Given the description of an element on the screen output the (x, y) to click on. 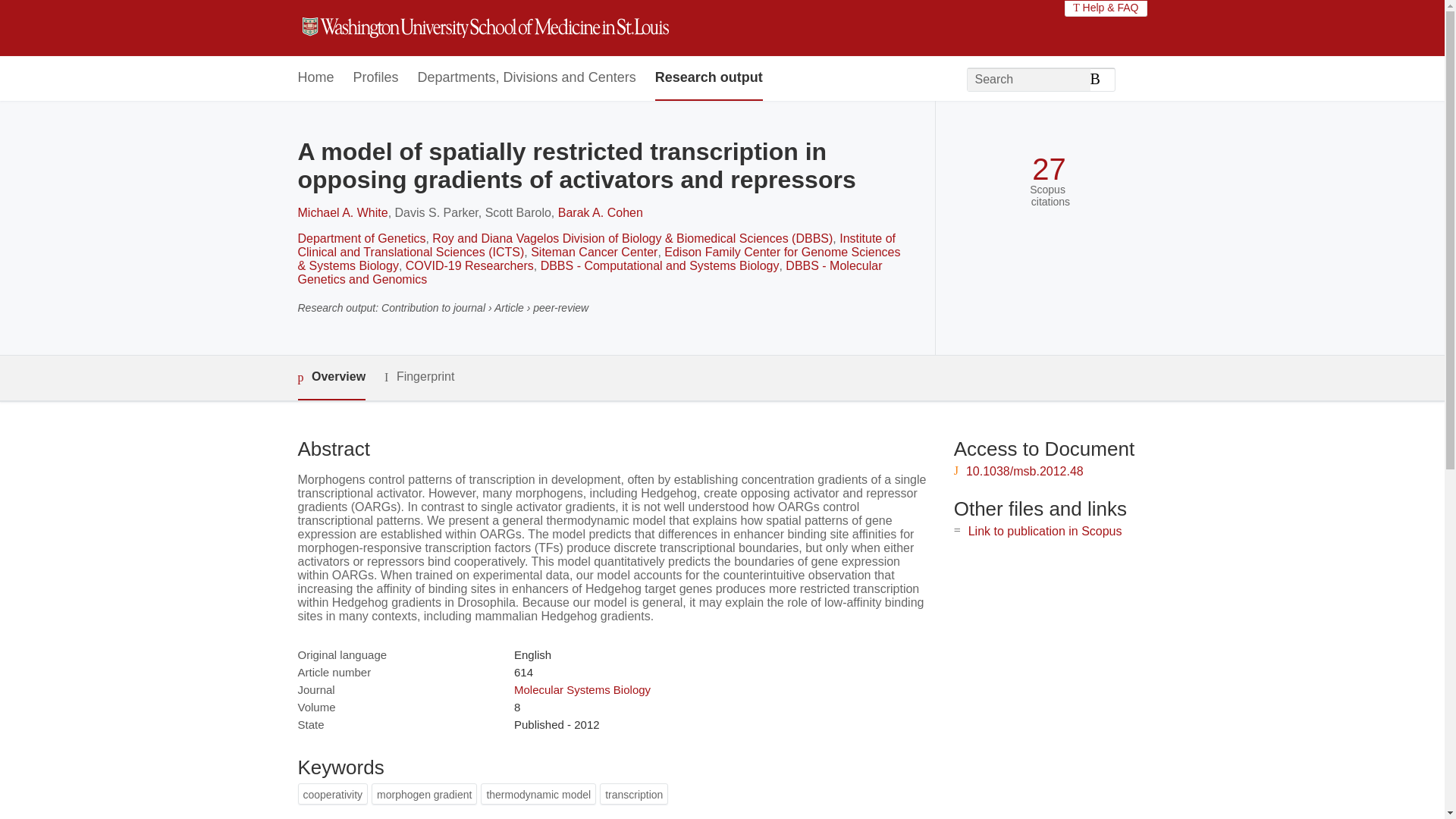
Link to publication in Scopus (1045, 530)
DBBS - Molecular Genetics and Genomics (589, 272)
Barak A. Cohen (600, 212)
Department of Genetics (361, 237)
27 (1048, 169)
COVID-19 Researchers (470, 265)
Michael A. White (342, 212)
Departments, Divisions and Centers (526, 78)
Molecular Systems Biology (581, 689)
Overview (331, 377)
Research output (708, 78)
Siteman Cancer Center (594, 251)
Fingerprint (419, 376)
